Given the description of an element on the screen output the (x, y) to click on. 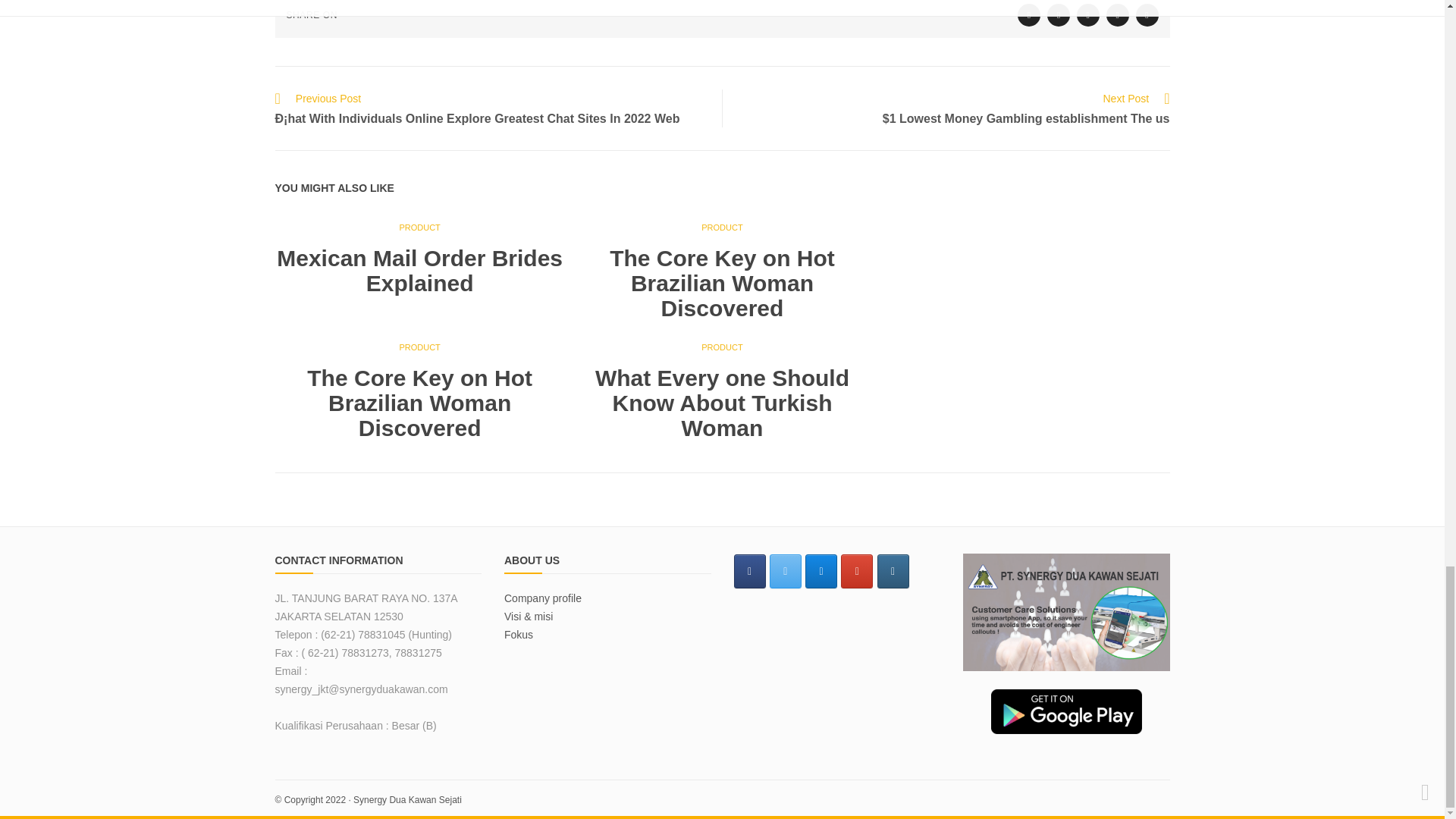
Synergy Dua Kawan Sejati on Instagram (892, 571)
Synergy Dua Kawan Sejati on Dropbox (821, 571)
Synergy Dua Kawan Sejati on Facebook (749, 571)
Facebook (1058, 15)
LinkedIn (1117, 15)
Synergy Dua Kawan Sejati on Twitter (786, 571)
Pinterest (1146, 15)
Synergy Dua Kawan Sejati on Google Plus (856, 571)
Twitter (1029, 15)
